Given the description of an element on the screen output the (x, y) to click on. 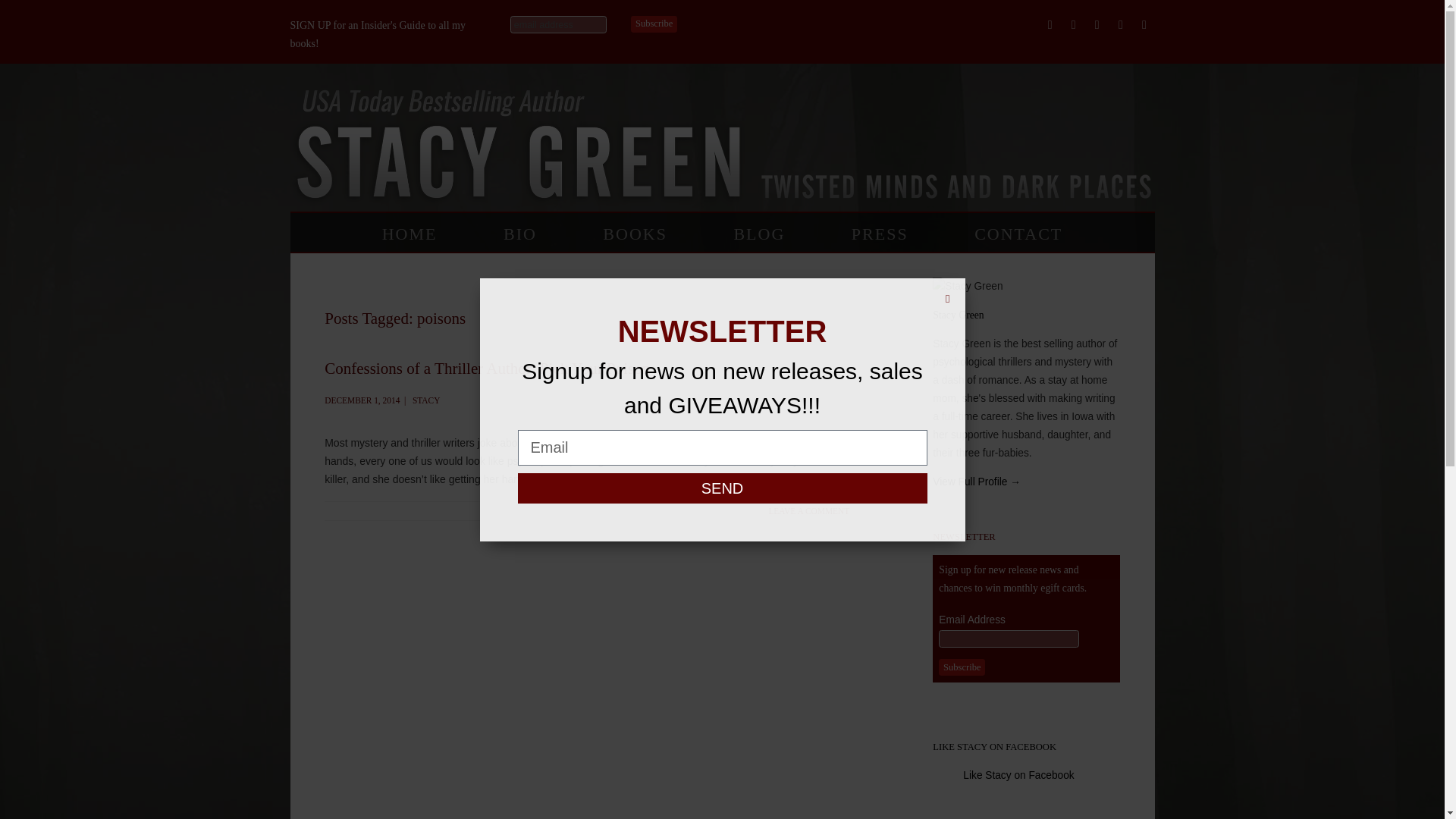
STACY (425, 399)
LIKE STACY ON FACEBOOK (995, 747)
BIO (520, 236)
Confessions of a Thriller Author: Pick Your Poison by Stacy (361, 399)
Subscribe (962, 667)
PRESS (879, 236)
DECEMBER 1, 2014 (361, 399)
Like Stacy on Facebook (1018, 775)
HOME (409, 236)
BOOKS (634, 236)
Confessions of a Thriller Author: Pick Your Poison (486, 368)
Subscribe (653, 23)
View all posts by Stacy (425, 399)
BLOG (758, 236)
Subscribe (962, 667)
